Given the description of an element on the screen output the (x, y) to click on. 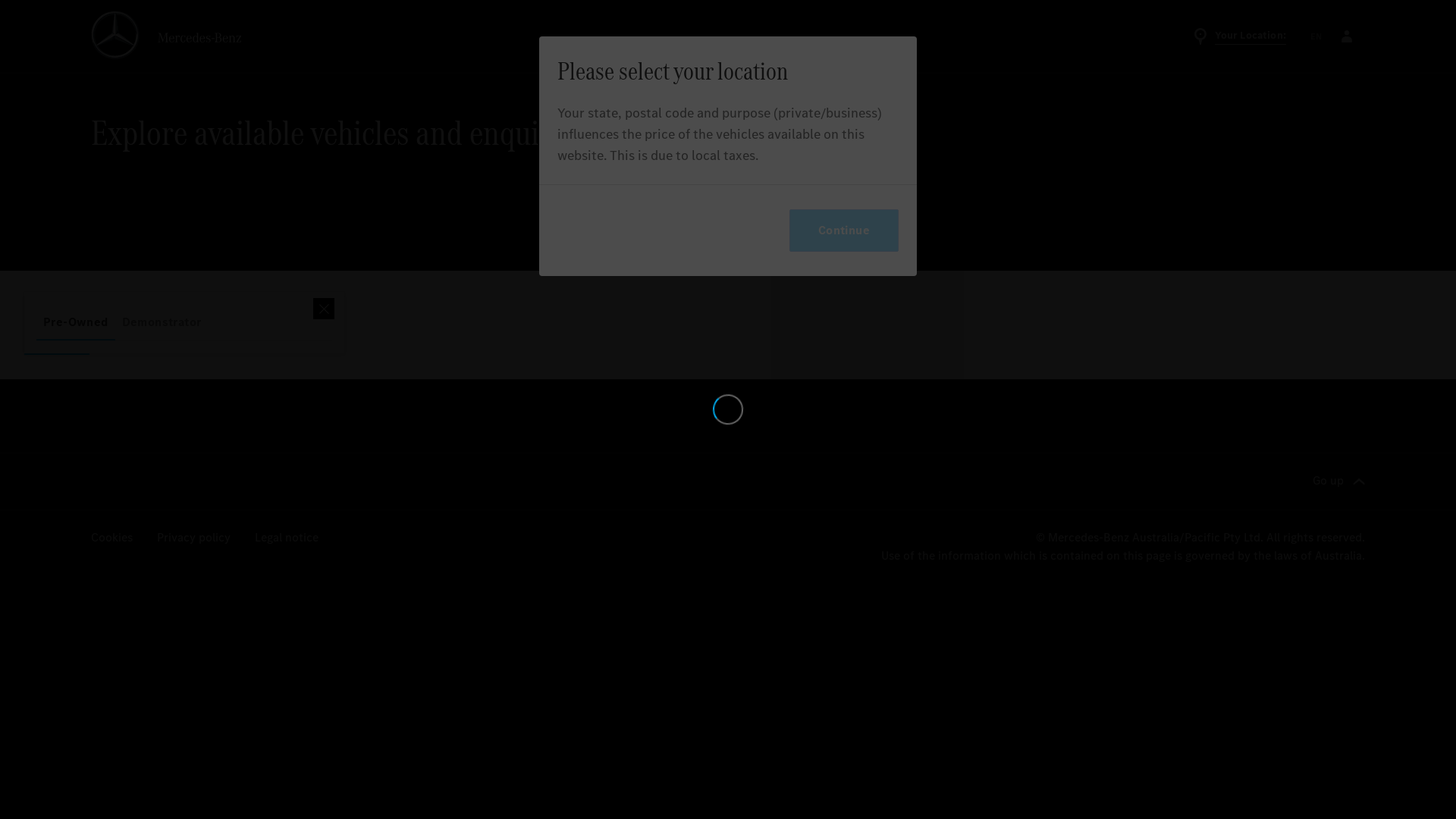
Legal notice Element type: text (286, 537)
Privacy policy Element type: text (193, 537)
Continue Element type: text (843, 230)
Go up Element type: text (1338, 481)
Cookies Element type: text (111, 537)
Your Location: Element type: text (1239, 36)
EN Element type: text (1316, 36)
Demonstrator Element type: text (161, 322)
Pre-Owned Element type: text (75, 322)
